Given the description of an element on the screen output the (x, y) to click on. 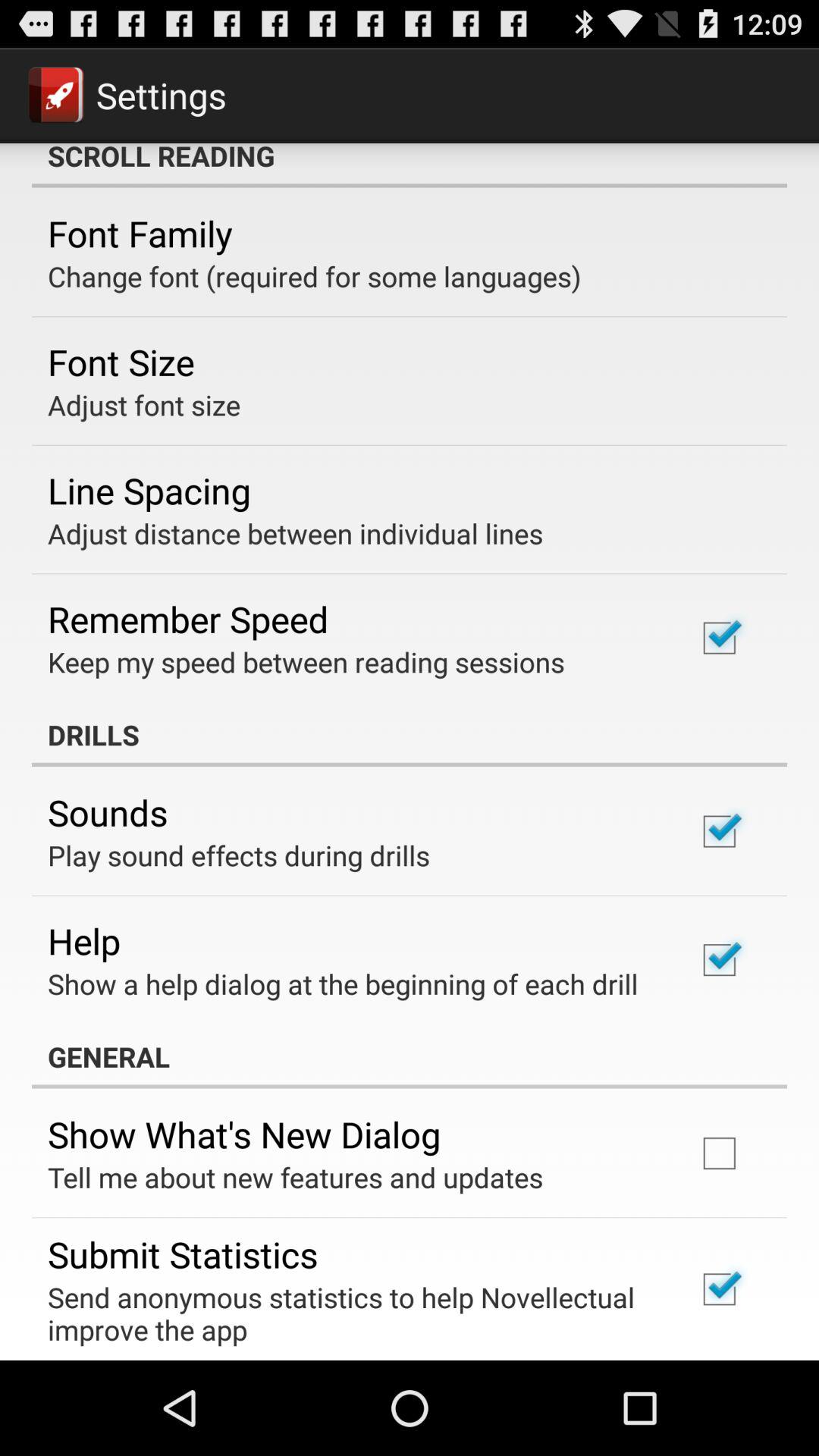
press the app below the drills app (107, 812)
